Given the description of an element on the screen output the (x, y) to click on. 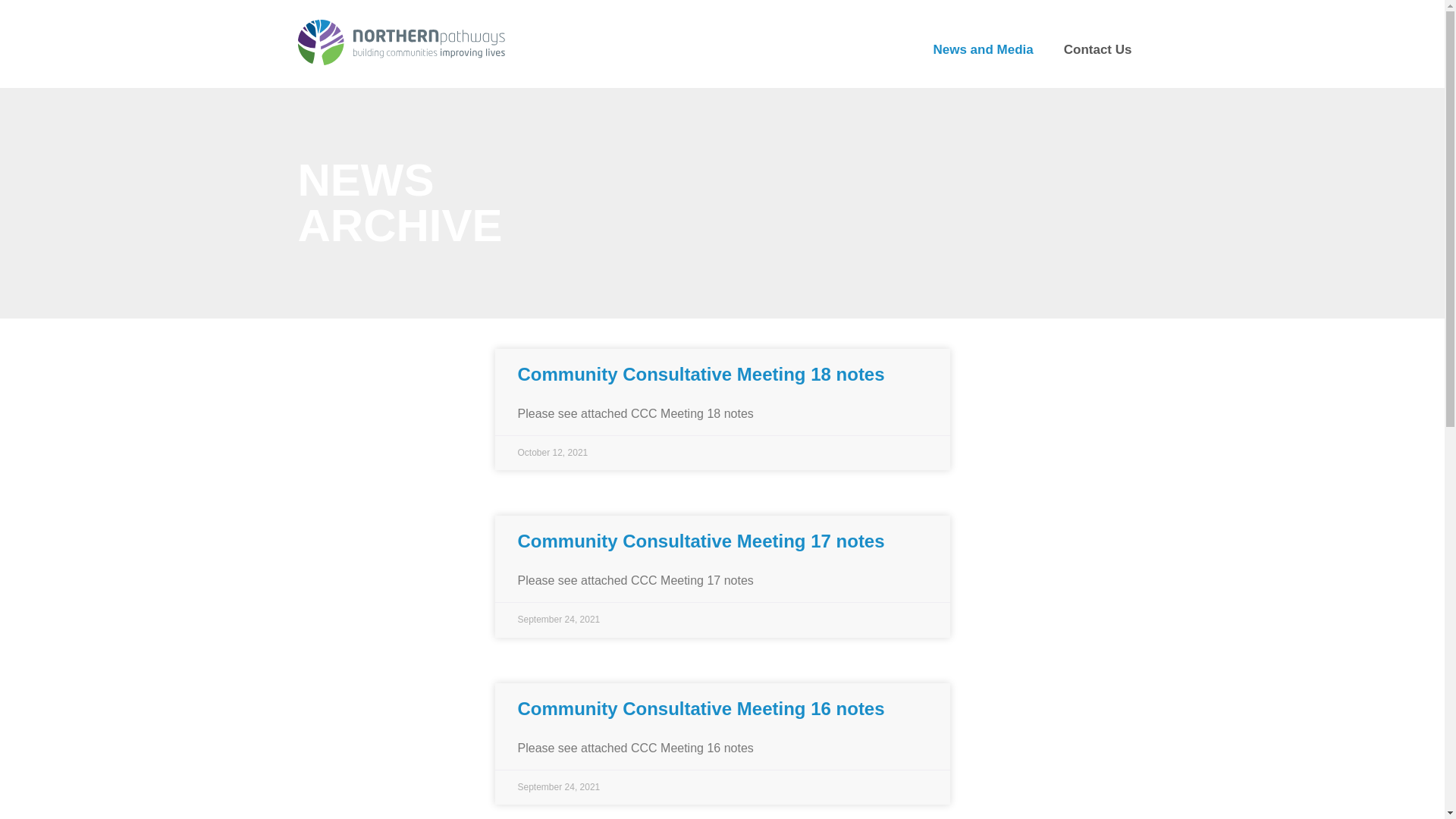
Community Consultative Meeting 18 notes Element type: text (700, 374)
News and Media Element type: text (982, 49)
Community Consultative Meeting 16 notes Element type: text (700, 708)
Contact Us Element type: text (1097, 49)
Community Consultative Meeting 17 notes Element type: text (700, 540)
